Given the description of an element on the screen output the (x, y) to click on. 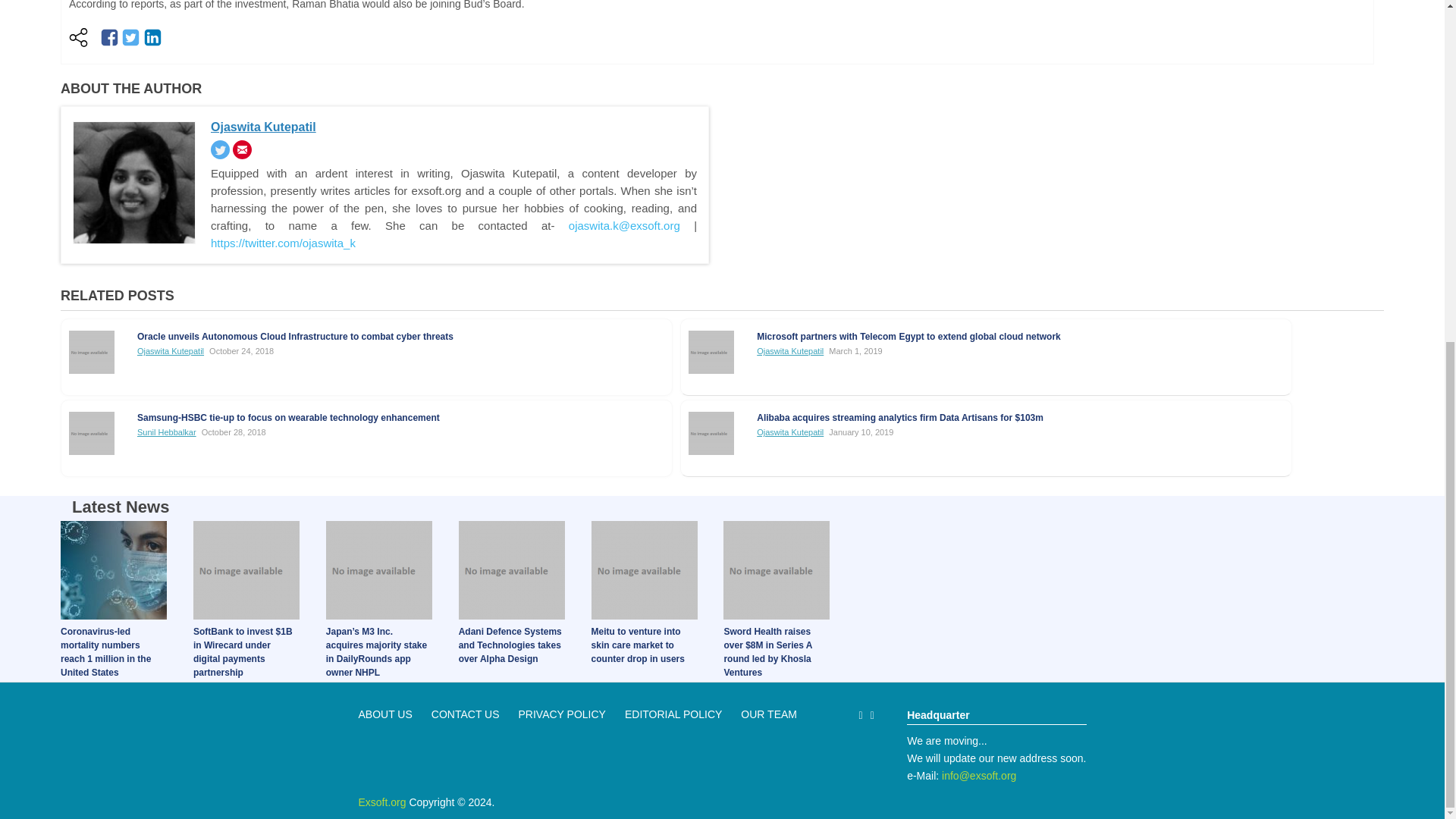
Ojaswita Kutepatil (169, 350)
Sunil Hebbalkar (166, 431)
Posts by Ojaswita Kutepatil (790, 350)
Ojaswita Kutepatil (790, 350)
Ojaswita Kutepatil (263, 126)
